Given the description of an element on the screen output the (x, y) to click on. 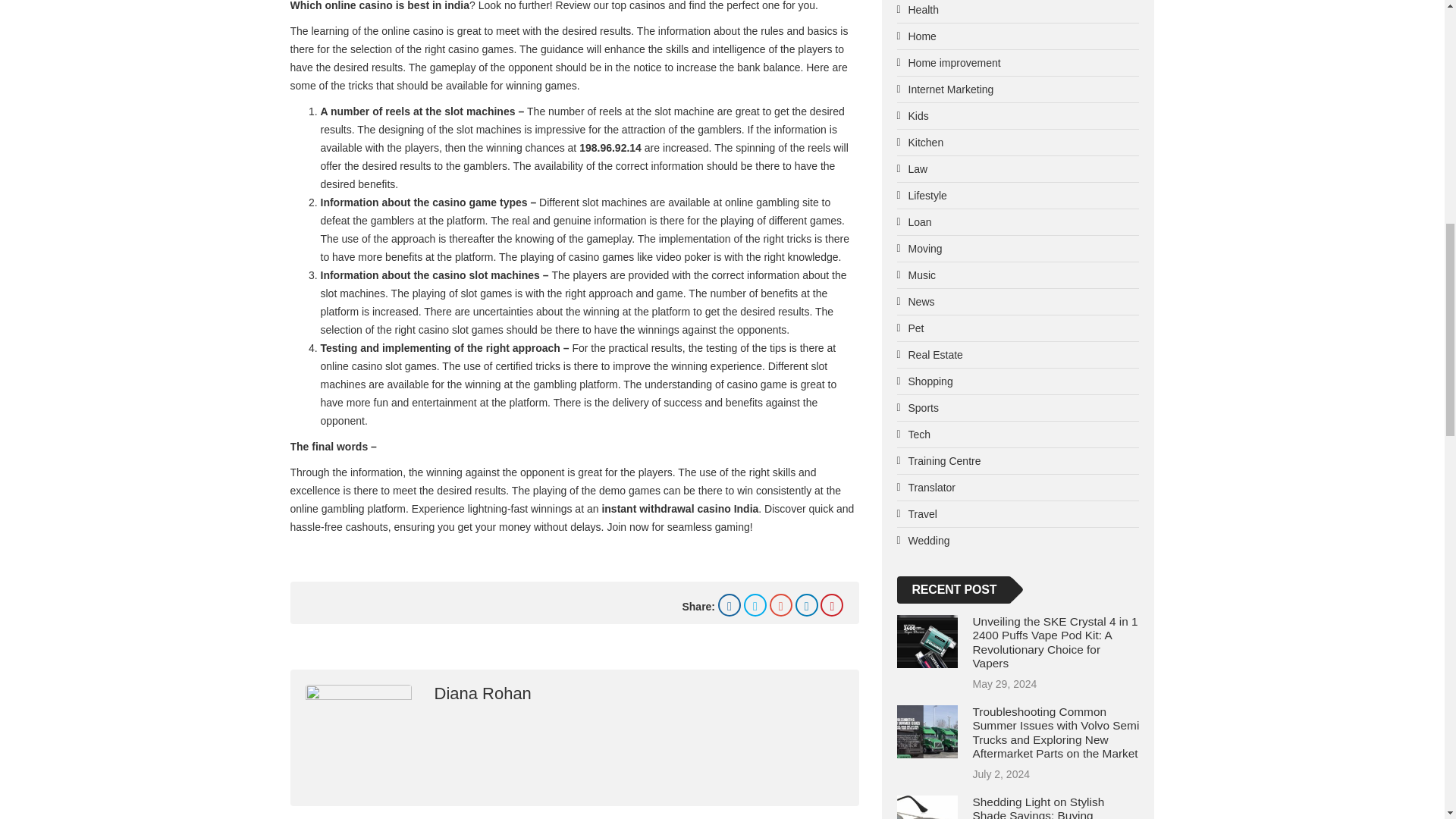
Pinterest (832, 604)
198.96.92.14 (610, 147)
Twitter (755, 604)
Linkedin (806, 604)
instant withdrawal casino India (679, 508)
Google Plus (781, 604)
Facebook (729, 604)
Which online casino is best in india (378, 5)
